Given the description of an element on the screen output the (x, y) to click on. 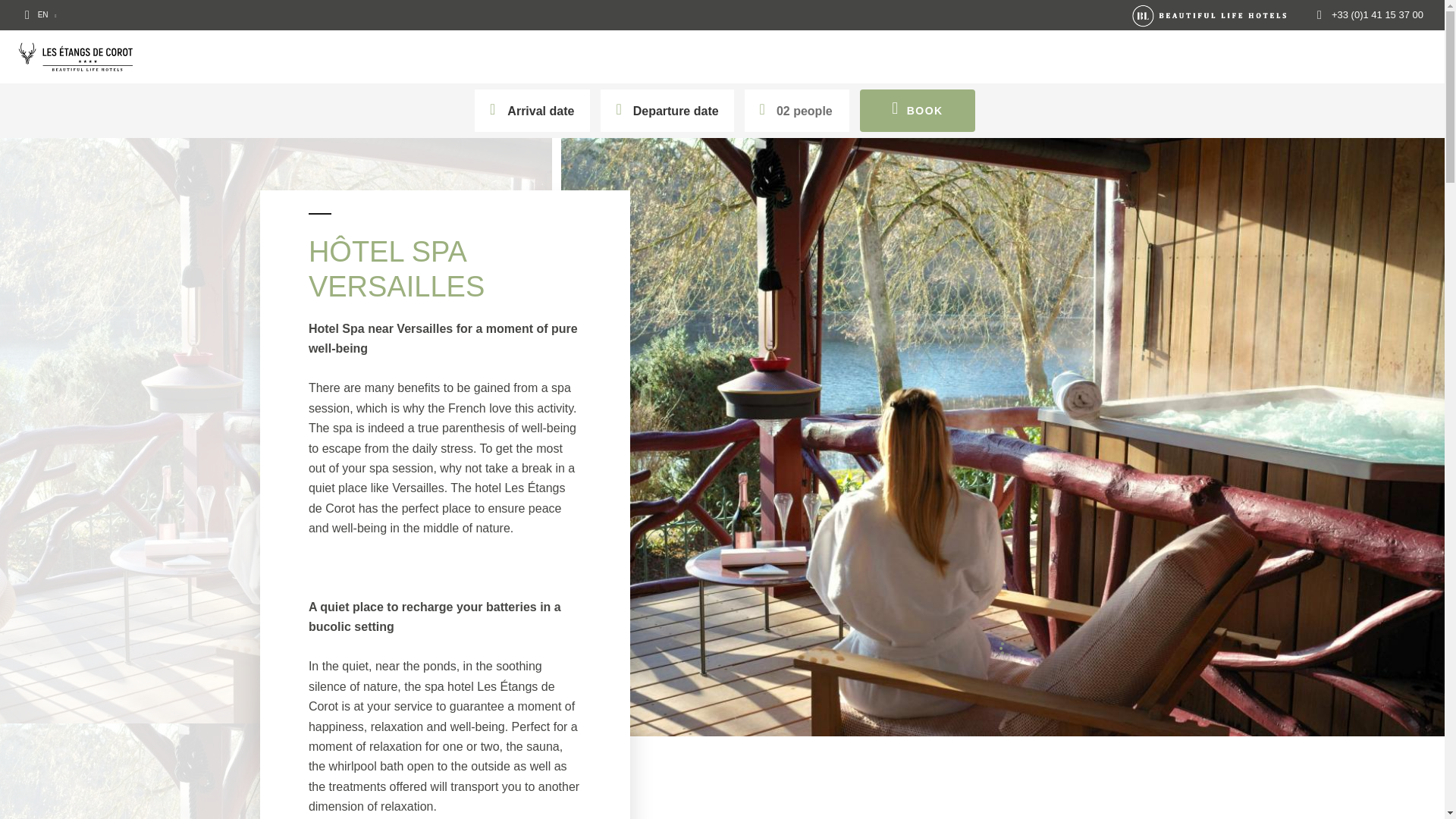
BOOK (917, 110)
